Given the description of an element on the screen output the (x, y) to click on. 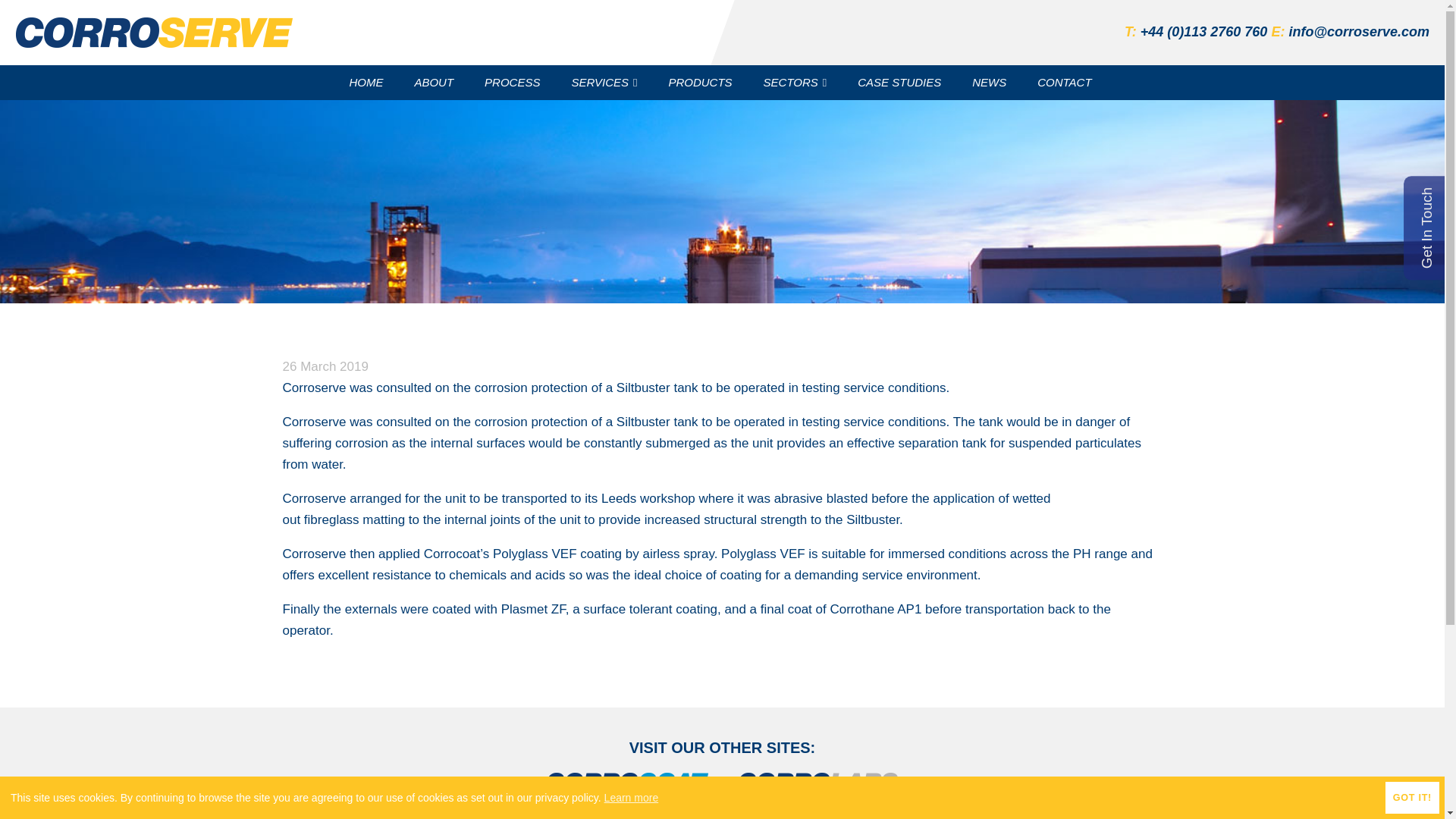
PROCESS (513, 82)
ABOUT (435, 82)
HOME (367, 82)
NEWS (990, 82)
GOT IT! (1412, 798)
SECTORS (796, 82)
Learn more (631, 797)
SERVICES (605, 82)
PRODUCTS (701, 82)
CONTACT (1065, 82)
CASE STUDIES (901, 82)
